Given the description of an element on the screen output the (x, y) to click on. 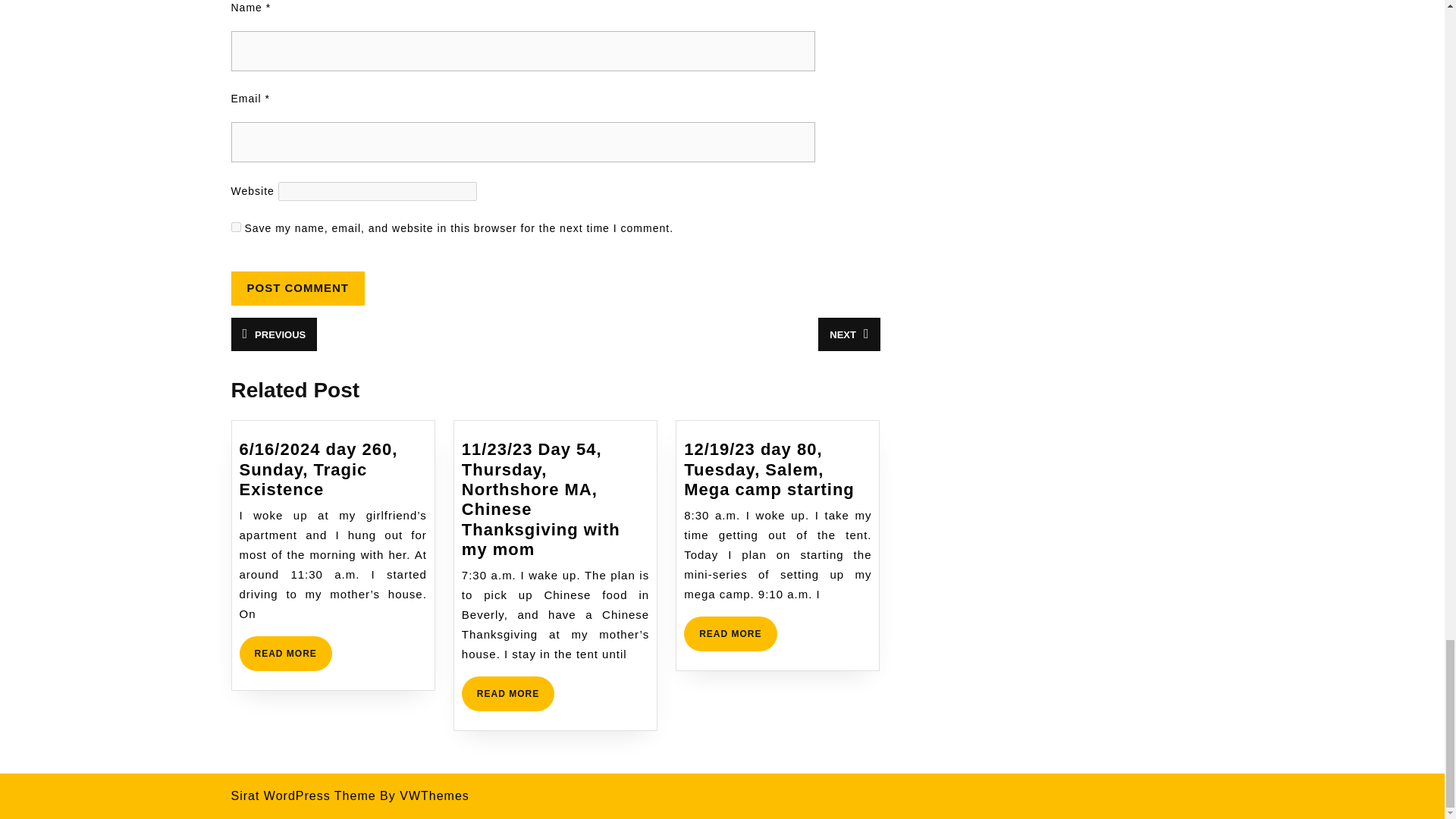
Sirat WordPress Theme (273, 334)
yes (285, 653)
Post Comment (302, 795)
Post Comment (730, 633)
